Given the description of an element on the screen output the (x, y) to click on. 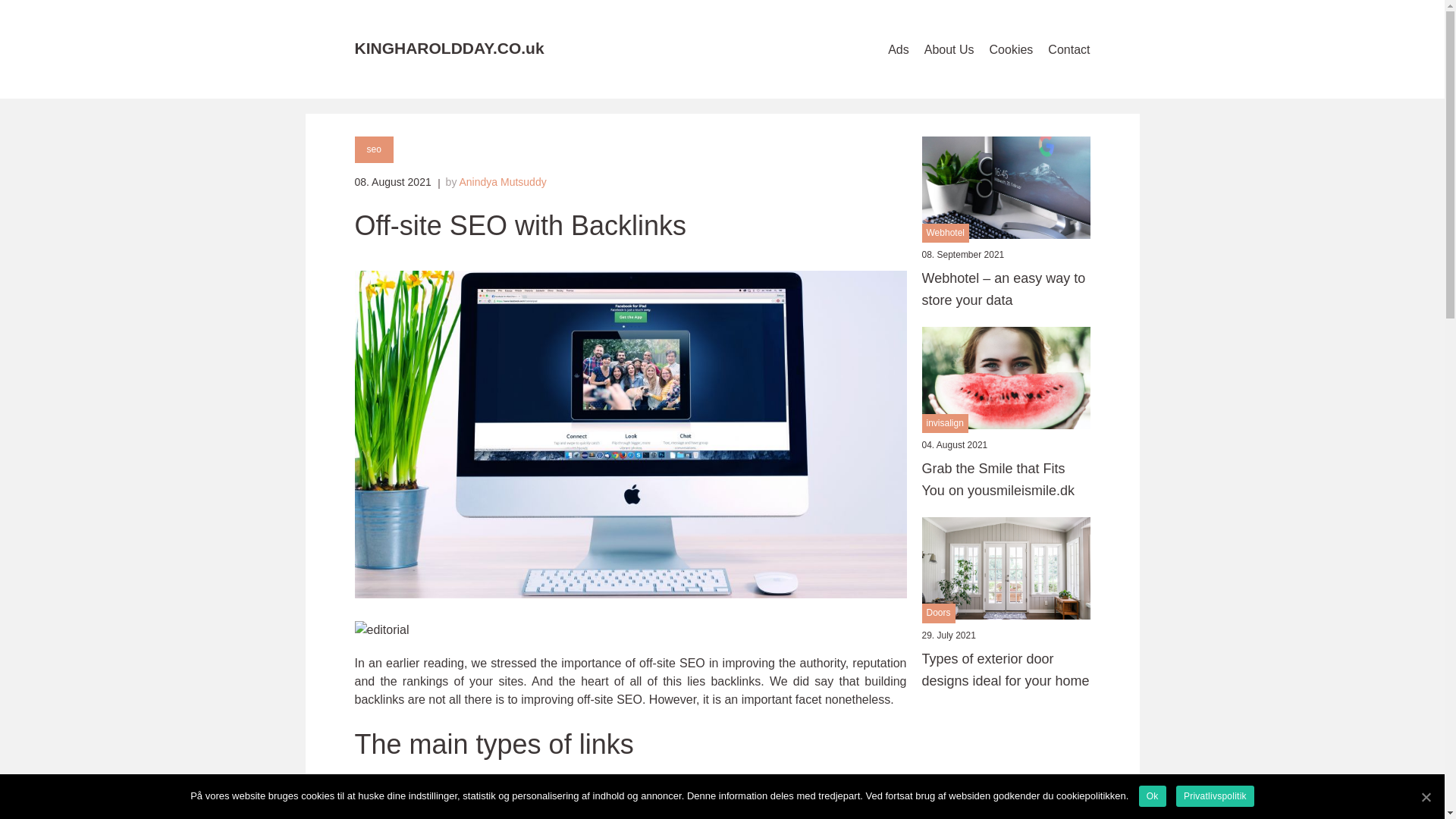
KINGHAROLDDAY.CO.uk (449, 48)
Cookies (1011, 49)
seo (374, 149)
Doors (938, 612)
Contact (1068, 49)
About Us (949, 49)
Types of exterior door designs ideal for your home (1005, 670)
Privatlivspolitik (1214, 795)
Ads (898, 49)
Grab the Smile that Fits You on yousmileismile.dk (1005, 479)
invisalign (944, 423)
Webhotel (945, 232)
